Given the description of an element on the screen output the (x, y) to click on. 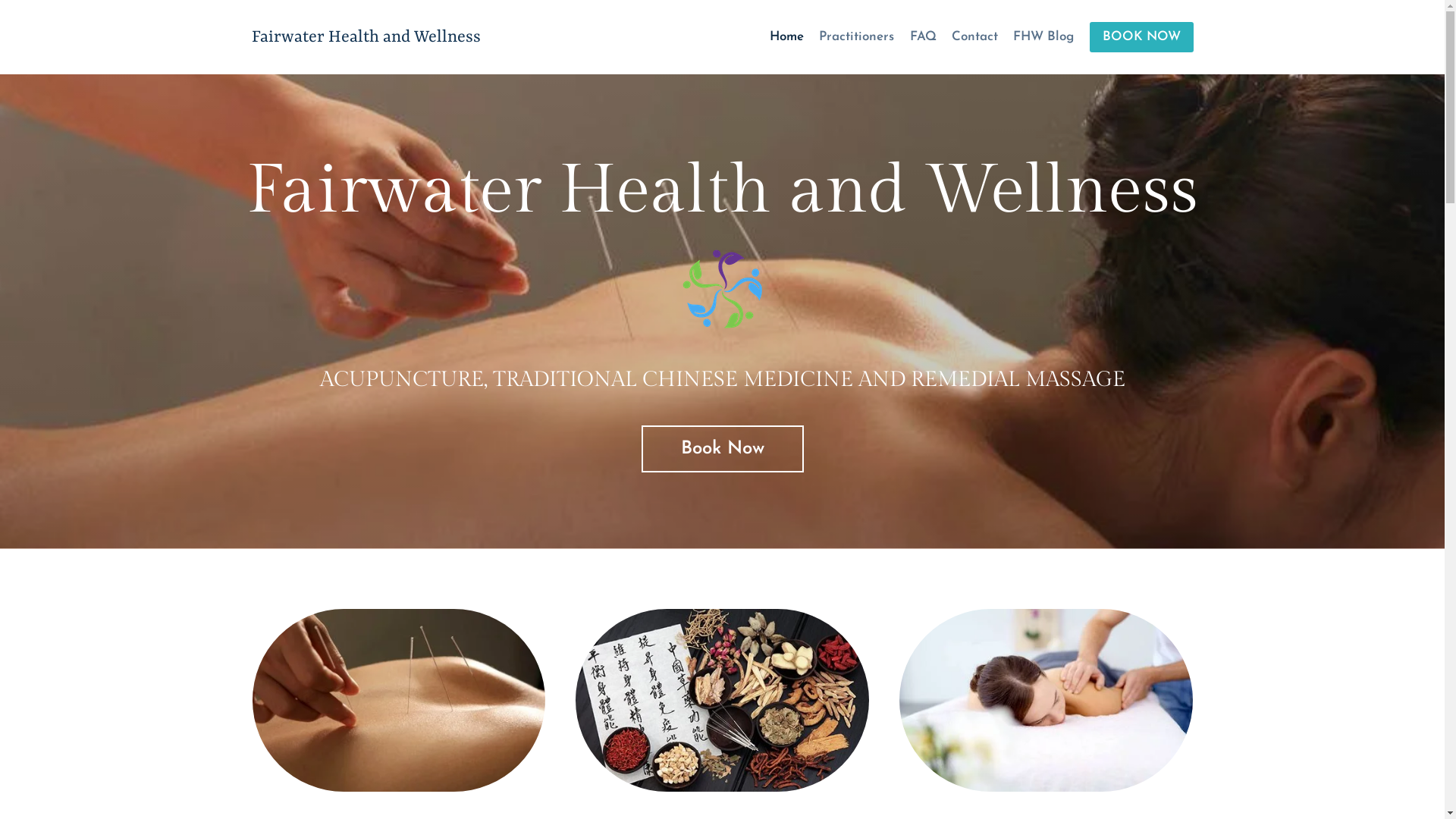
Contact Element type: text (974, 36)
FAQ Element type: text (922, 36)
Practitioners Element type: text (856, 36)
FHW Blog Element type: text (1043, 36)
Home Element type: text (786, 36)
Fairwater Health and Wellness Element type: text (365, 36)
Book Now Element type: text (722, 448)
BOOK NOW Element type: text (1140, 37)
